Given the description of an element on the screen output the (x, y) to click on. 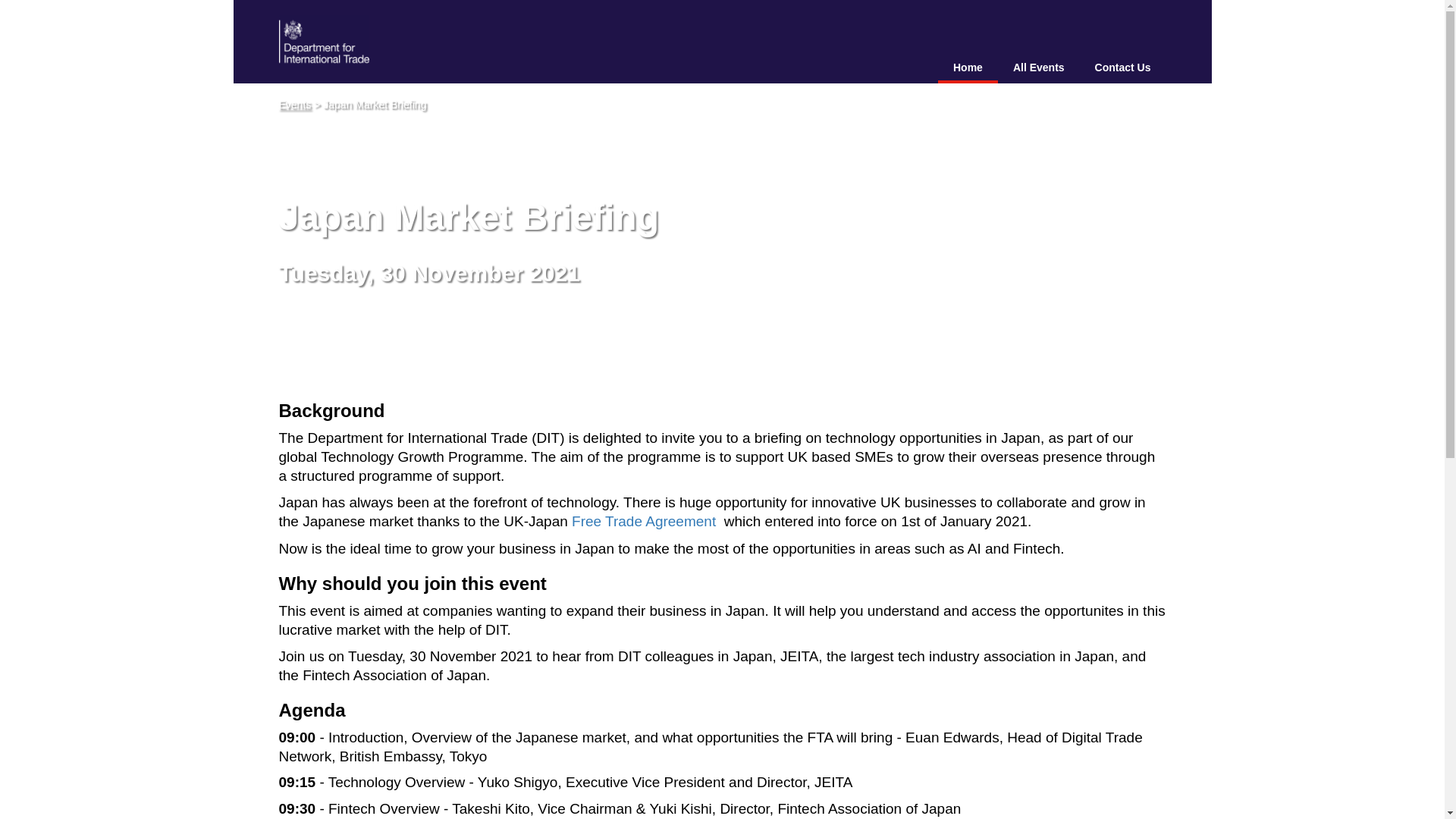
Home (967, 67)
All Events (1038, 67)
Events (295, 104)
Free Trade Agreement  (645, 521)
Contact Us (1123, 67)
